Given the description of an element on the screen output the (x, y) to click on. 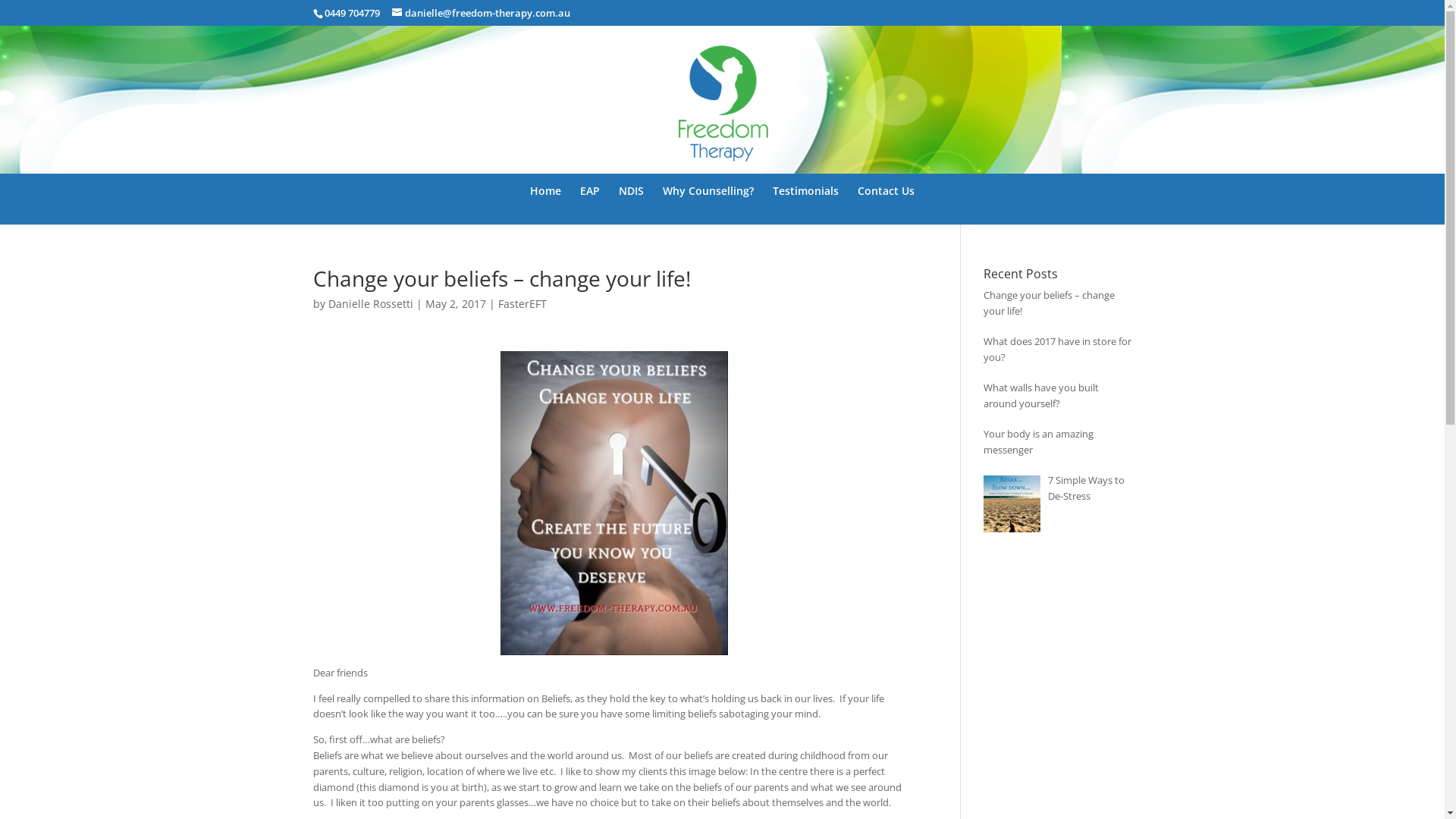
Testimonials Element type: text (805, 204)
EAP Element type: text (589, 204)
Home Element type: text (545, 204)
7 Simple Ways to De-Stress Element type: text (1086, 487)
Danielle Rossetti Element type: text (369, 303)
What walls have you built around yourself? Element type: text (1040, 395)
Contact Us Element type: text (885, 204)
NDIS Element type: text (630, 204)
Your body is an amazing messenger Element type: text (1038, 441)
Why Counselling? Element type: text (707, 204)
What does 2017 have in store for you? Element type: text (1057, 349)
danielle@freedom-therapy.com.au Element type: text (480, 12)
FasterEFT Element type: text (521, 303)
